Given the description of an element on the screen output the (x, y) to click on. 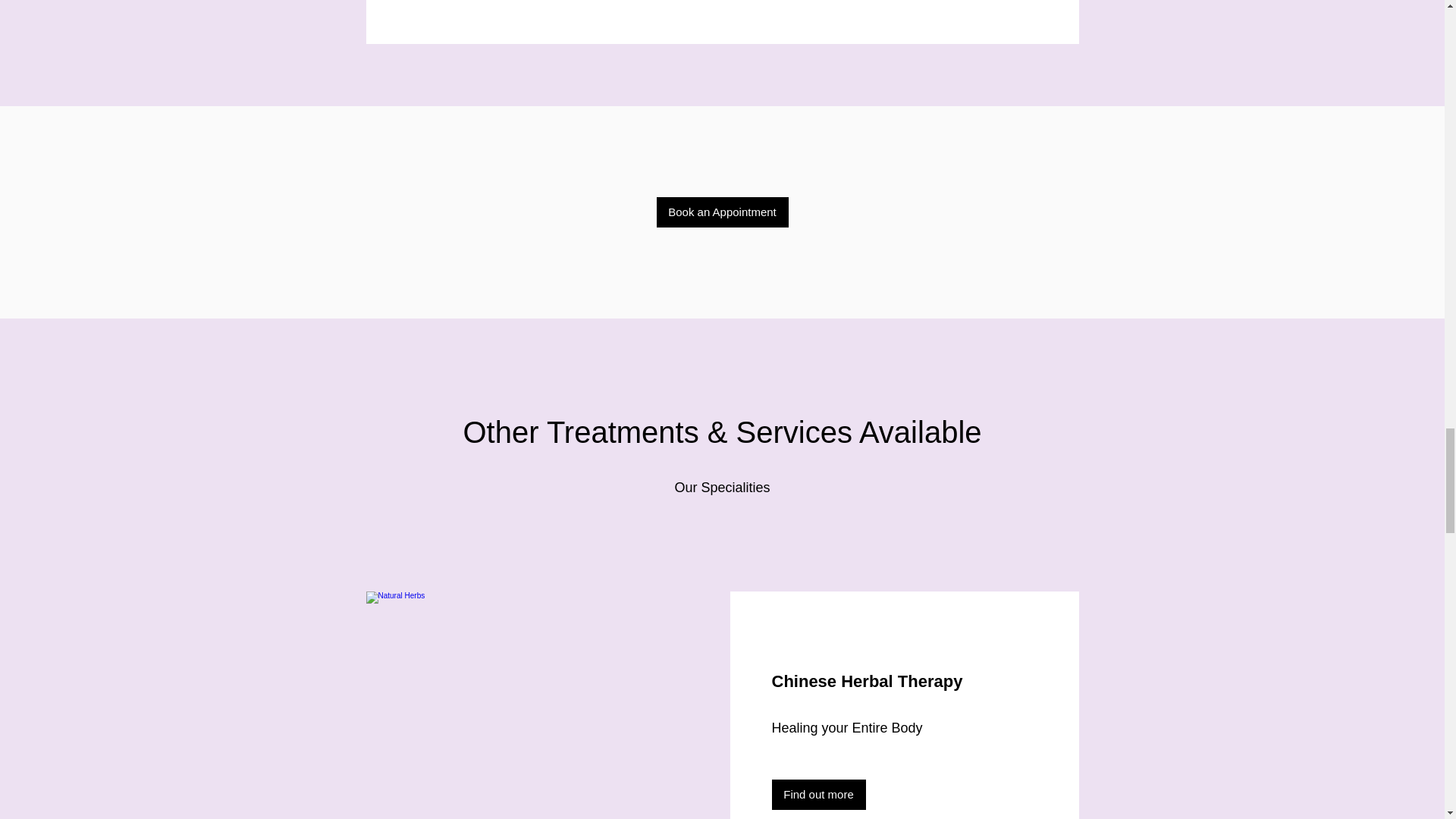
Find out more (818, 794)
Book an Appointment (722, 212)
